Given the description of an element on the screen output the (x, y) to click on. 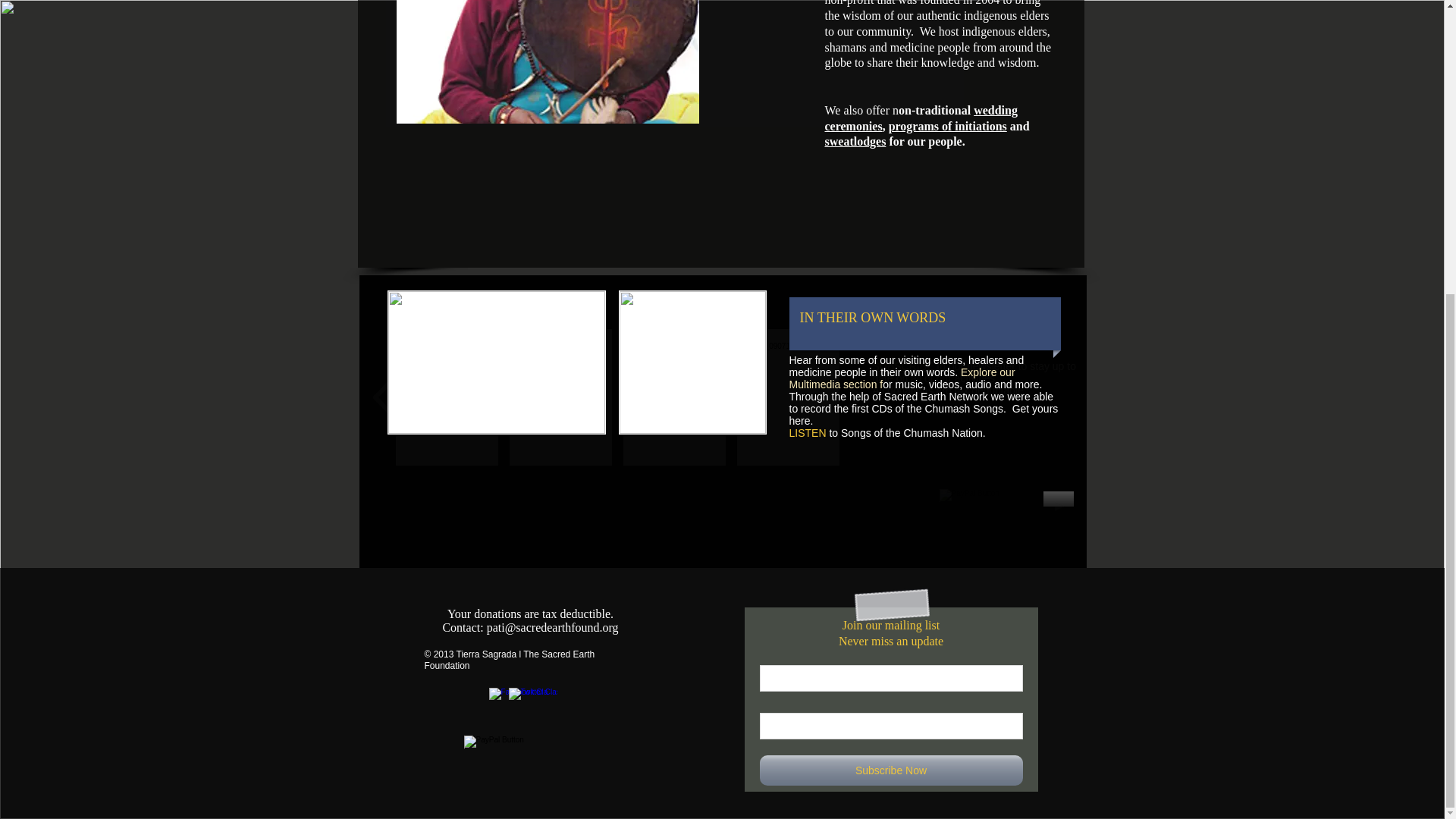
sweatlodges (855, 141)
SUBSCRIBE (904, 366)
programs of initiations (947, 125)
LISTEN (807, 432)
cdBanner.jpg (692, 362)
artatsunset.JPG (496, 362)
IN THEIR OWN WORDS (876, 318)
Explore our Multimedia section f (901, 378)
wedding ceremonies (921, 118)
